Given the description of an element on the screen output the (x, y) to click on. 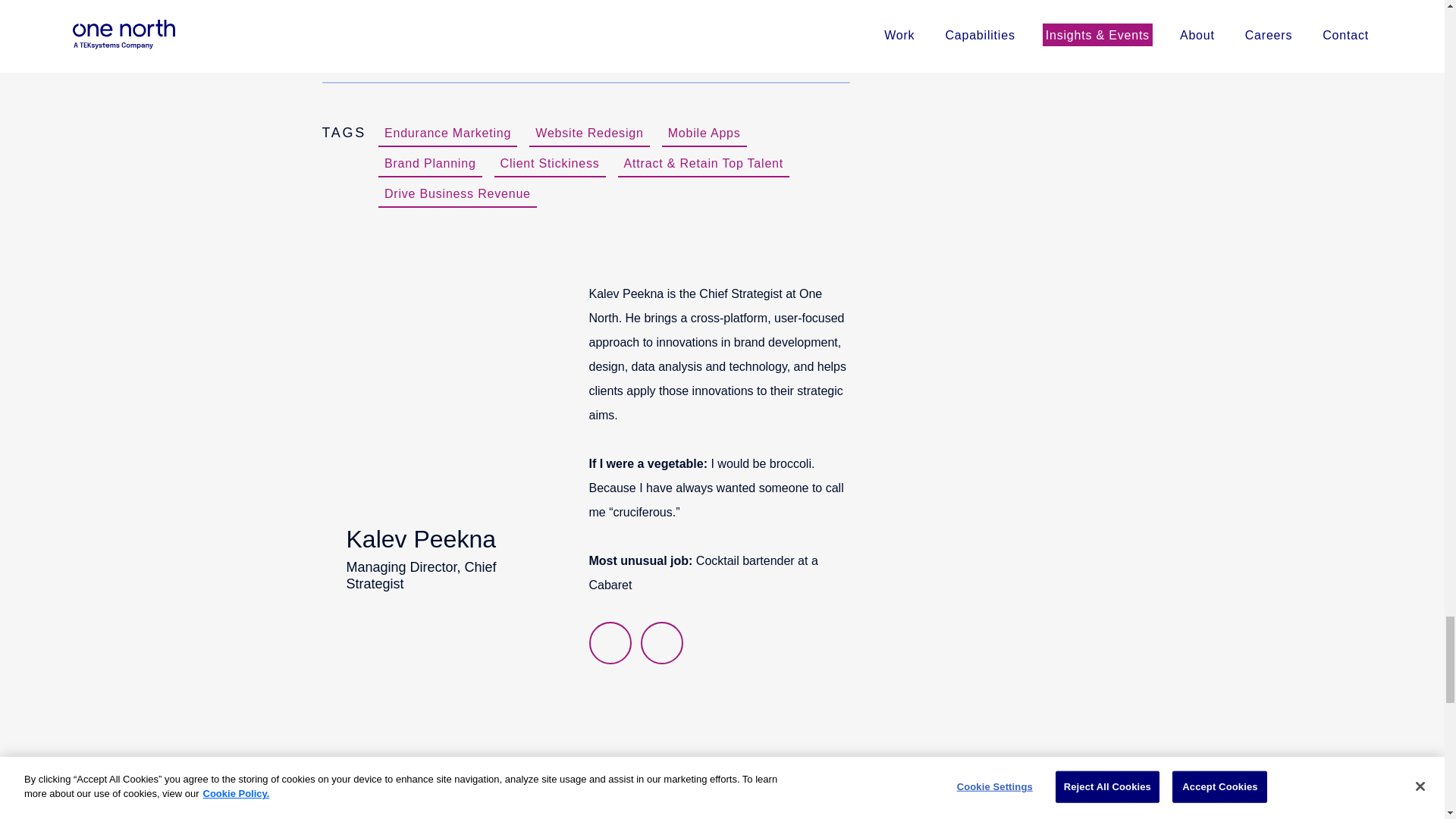
Let's talk endurance marketing (704, 132)
